Given the description of an element on the screen output the (x, y) to click on. 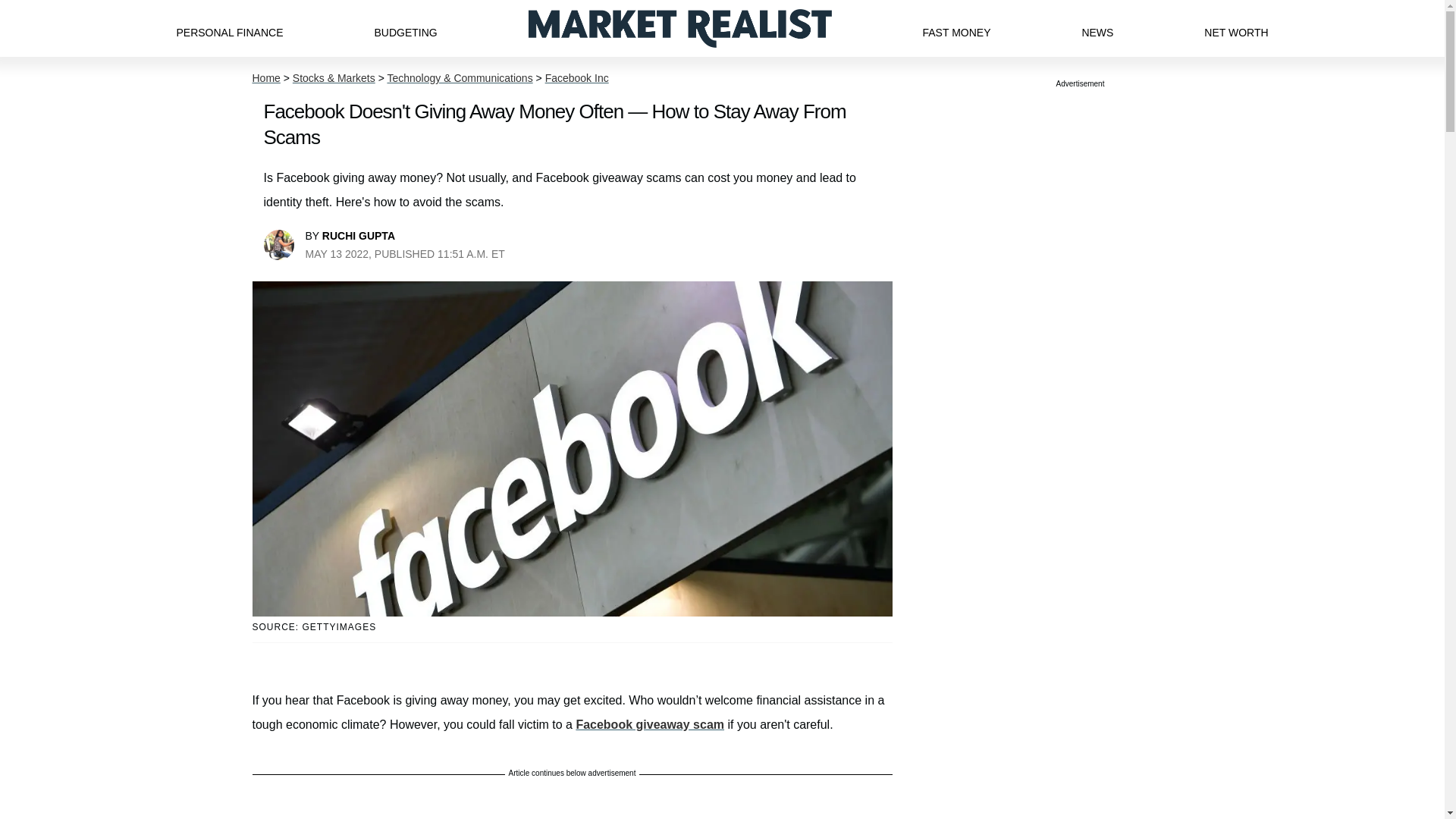
Home (265, 78)
RUCHI GUPTA (357, 235)
PERSONAL FINANCE (229, 27)
Facebook Inc (576, 78)
Facebook giveaway scam (649, 724)
FAST MONEY (955, 27)
BUDGETING (405, 27)
NEWS (1097, 27)
NET WORTH (1236, 27)
